Given the description of an element on the screen output the (x, y) to click on. 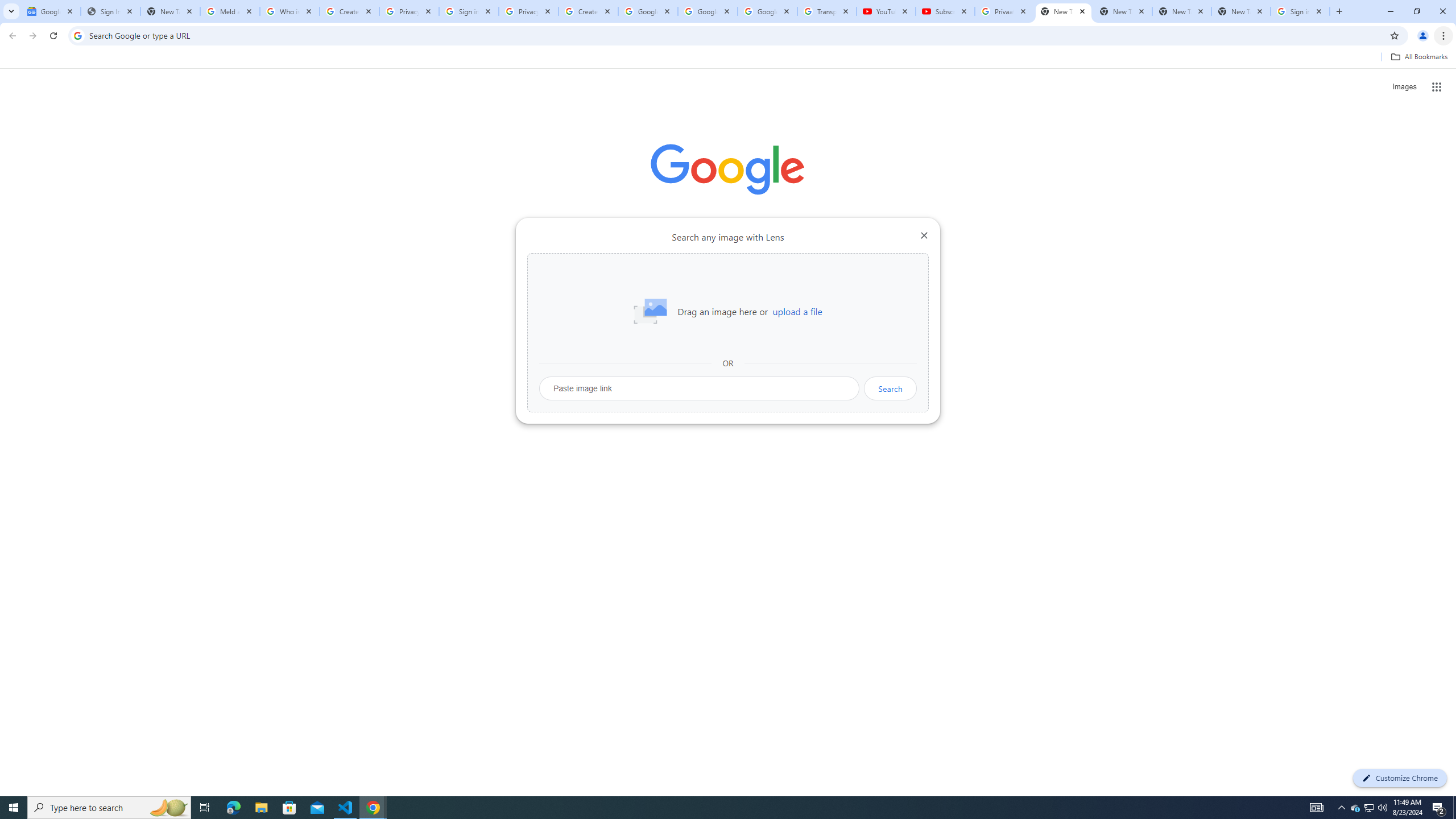
Who is my administrator? - Google Account Help (289, 11)
New Tab (1241, 11)
More actions for Chrome Web Store shortcut (686, 265)
Search for Images  (1403, 87)
More actions for Sign in shortcut (814, 265)
Google News (50, 11)
Create your Google Account (588, 11)
upload a file (796, 311)
Create your Google Account (349, 11)
